Given the description of an element on the screen output the (x, y) to click on. 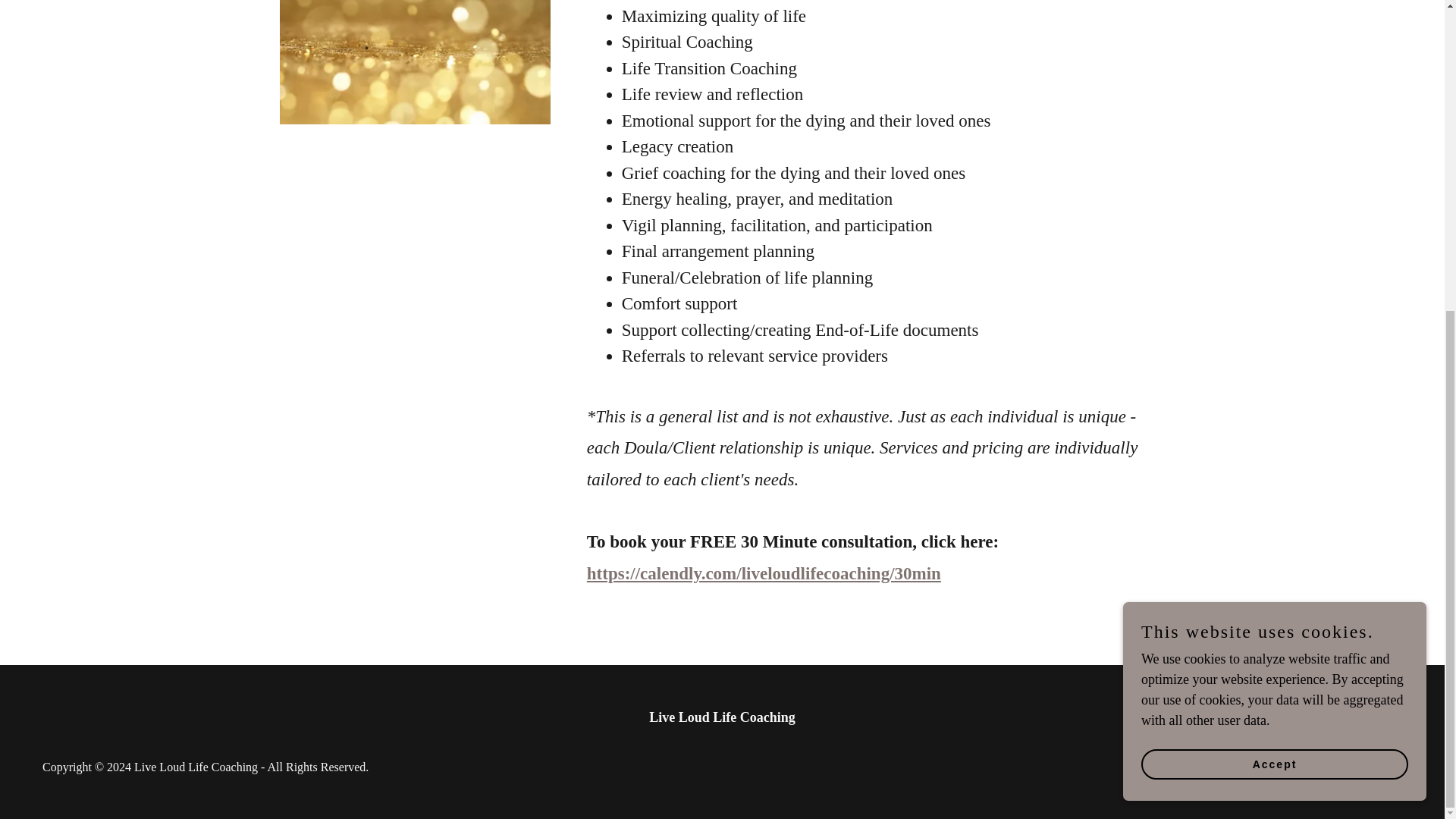
Accept (1274, 269)
GoDaddy (1297, 766)
